Given the description of an element on the screen output the (x, y) to click on. 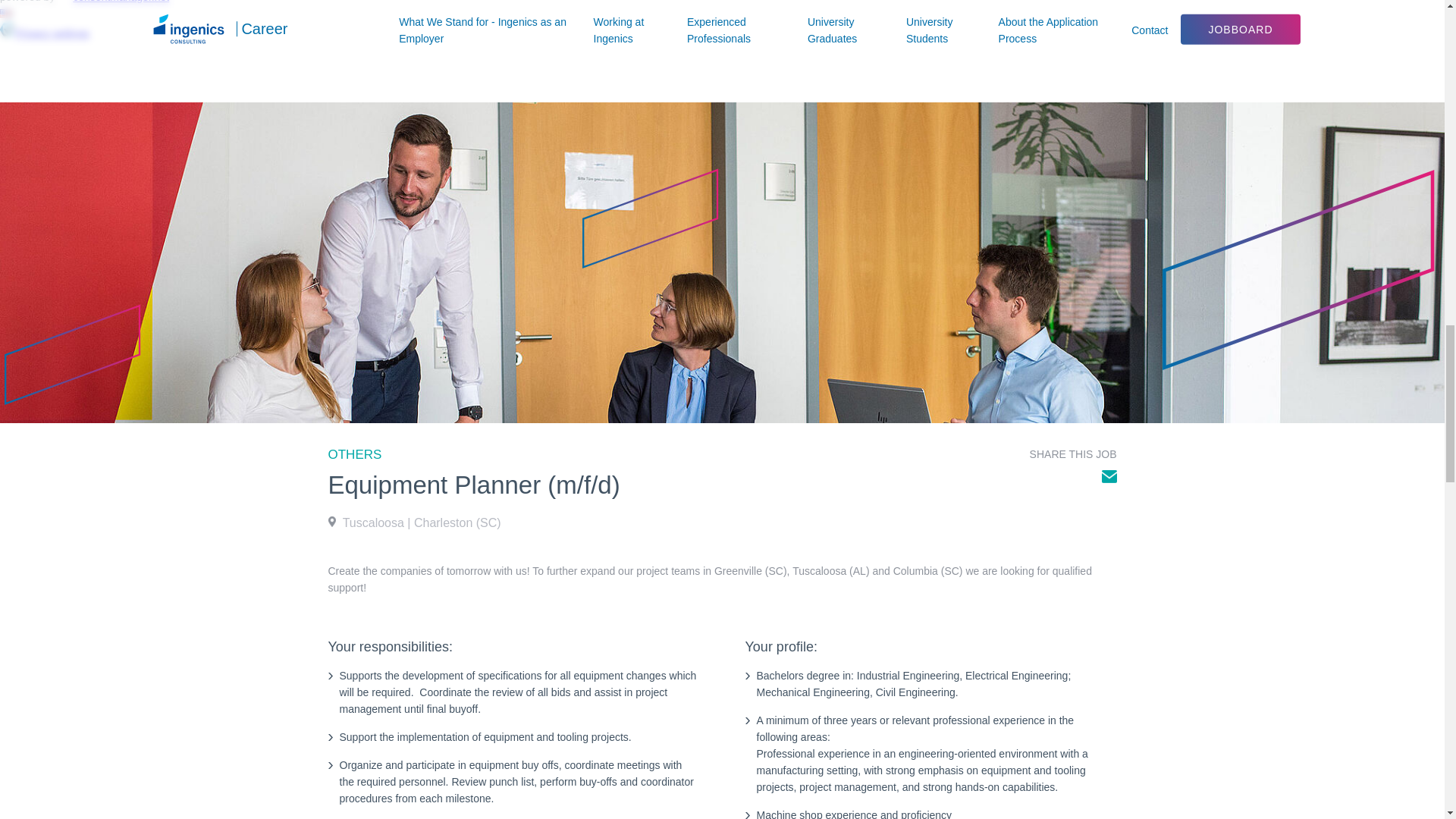
Ingenics Trademark (72, 354)
Ingenics Trademark (650, 219)
location (1108, 476)
